Given the description of an element on the screen output the (x, y) to click on. 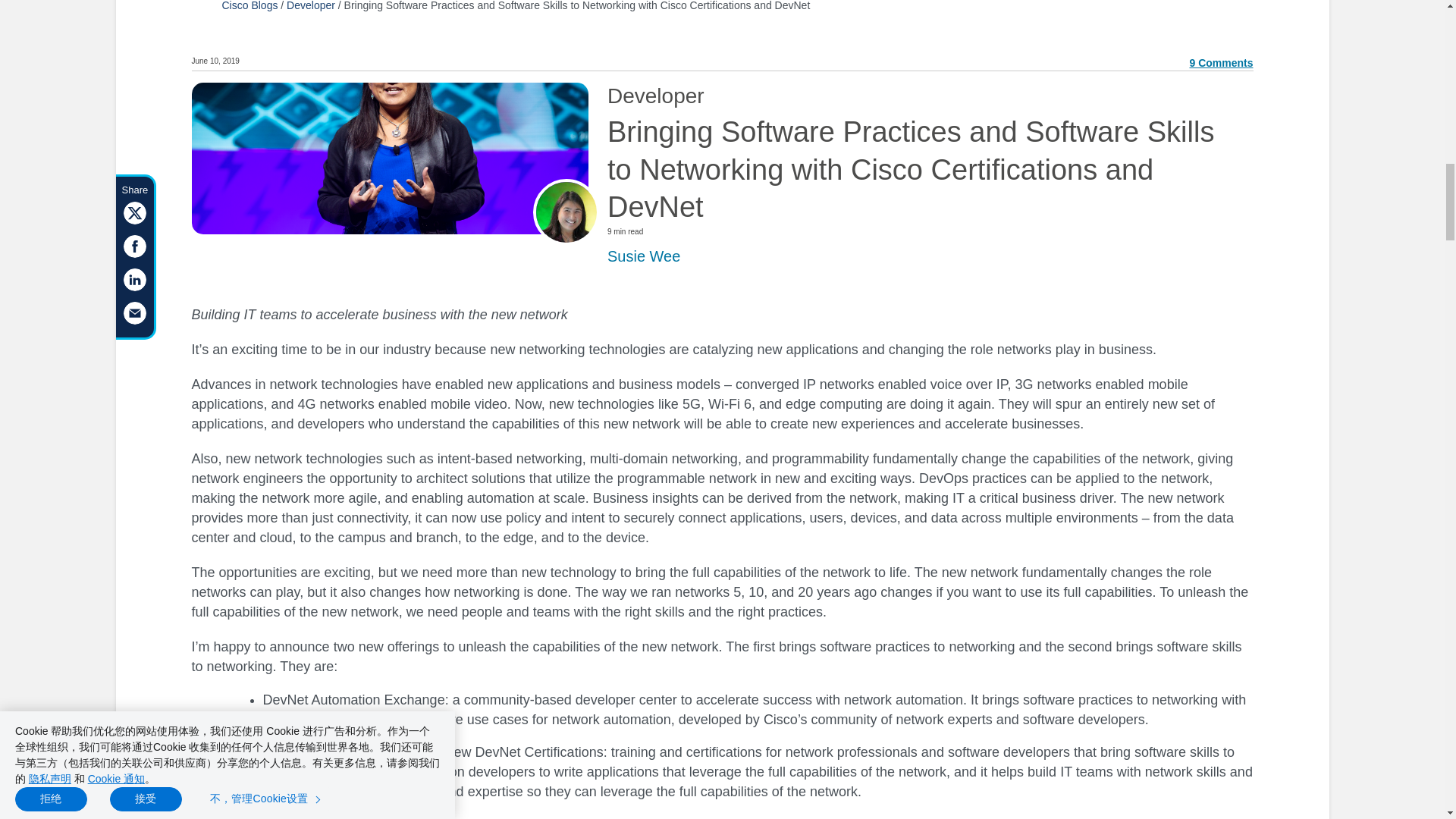
Developer (310, 5)
Posts by Susie Wee (643, 256)
Susie Wee (643, 256)
Cisco Blogs (249, 5)
